Given the description of an element on the screen output the (x, y) to click on. 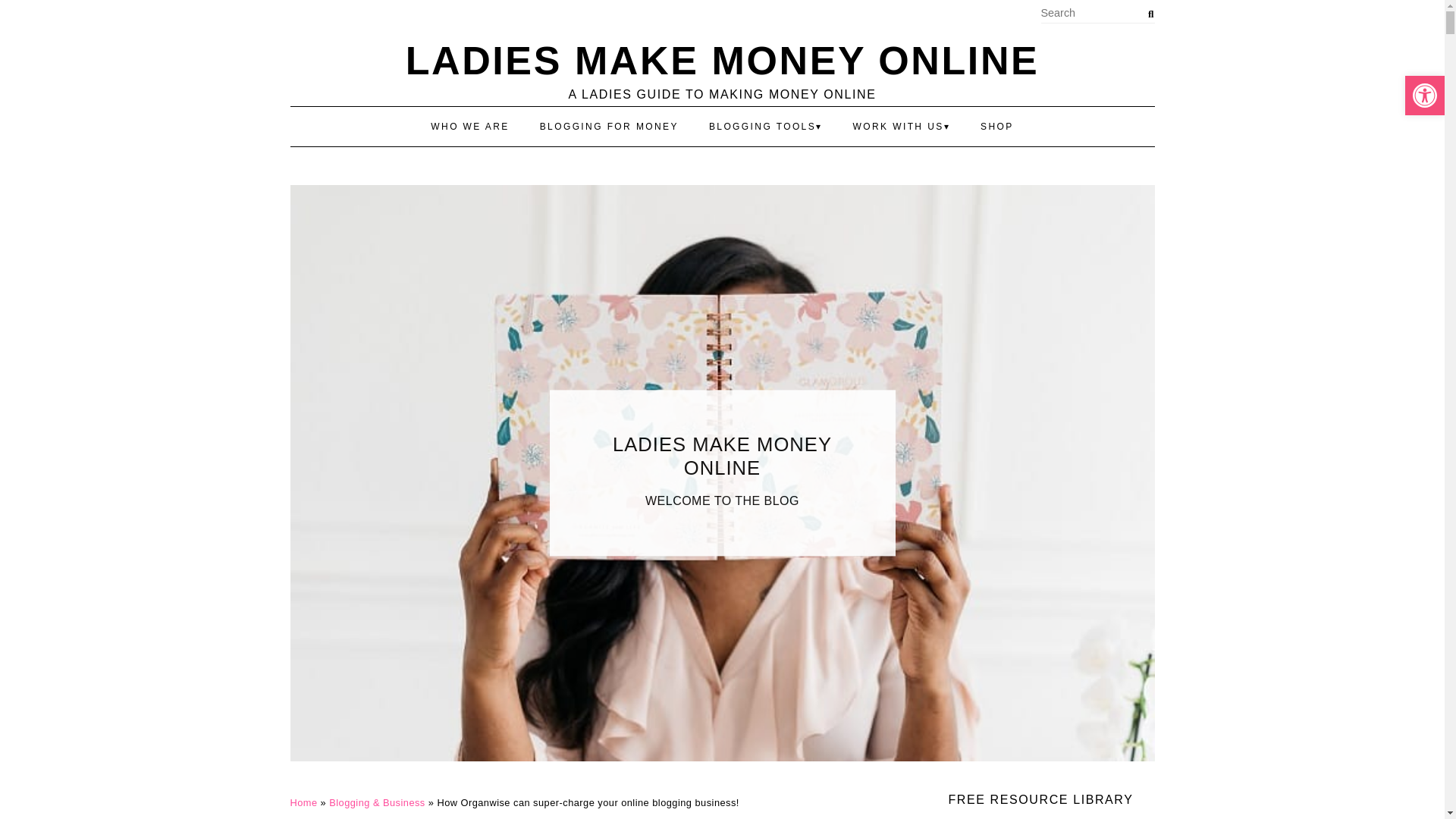
BLOGGING FOR MONEY (609, 126)
WORK WITH US (902, 126)
BLOGGING TOOLS (766, 126)
Accessibility Tools (1424, 95)
Home (303, 802)
LADIES MAKE MONEY ONLINE (722, 60)
WHO WE ARE (469, 126)
SHOP (997, 126)
